Given the description of an element on the screen output the (x, y) to click on. 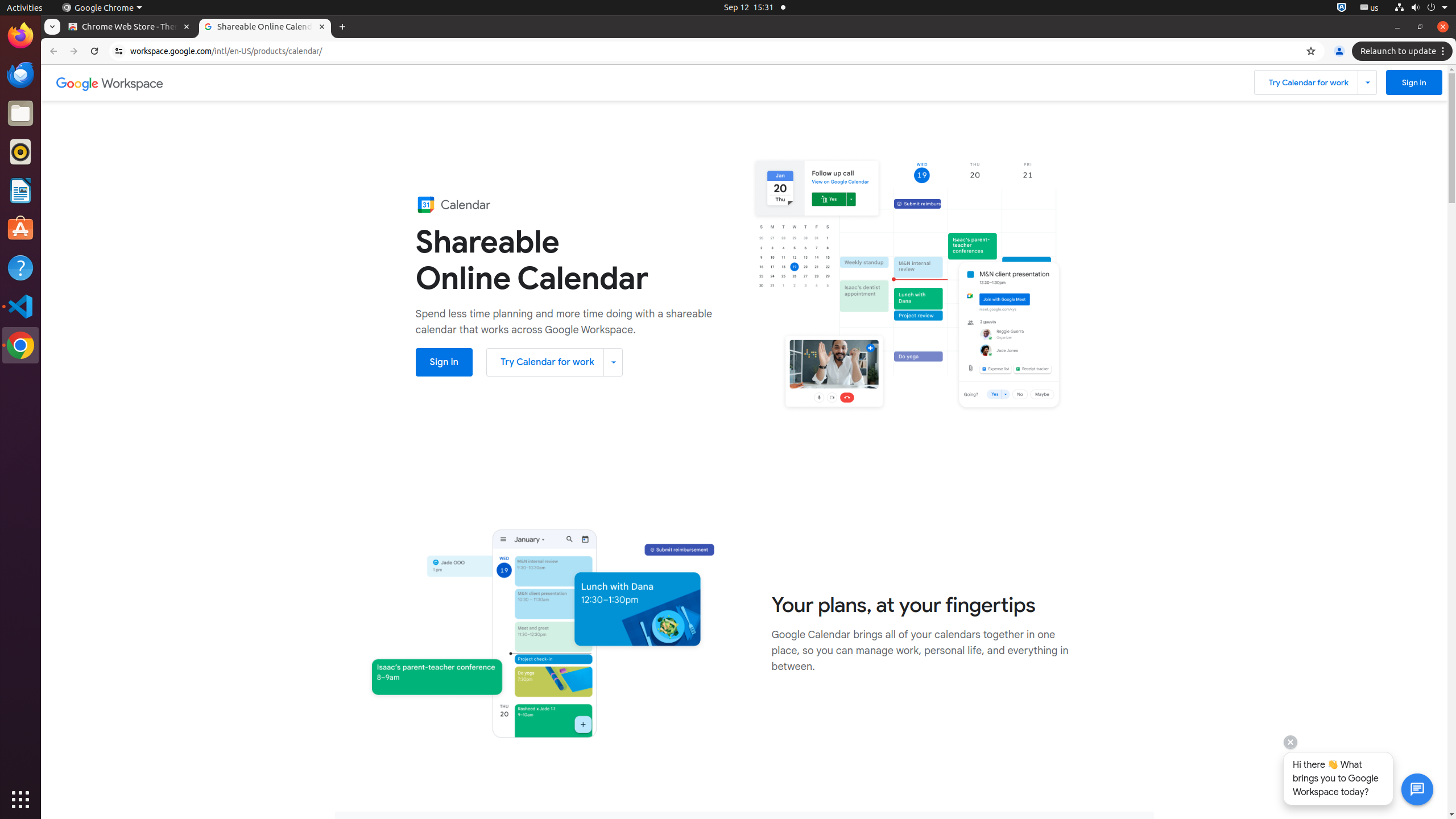
Sign in to use Google Calendar Element type: link (1413, 81)
